Given the description of an element on the screen output the (x, y) to click on. 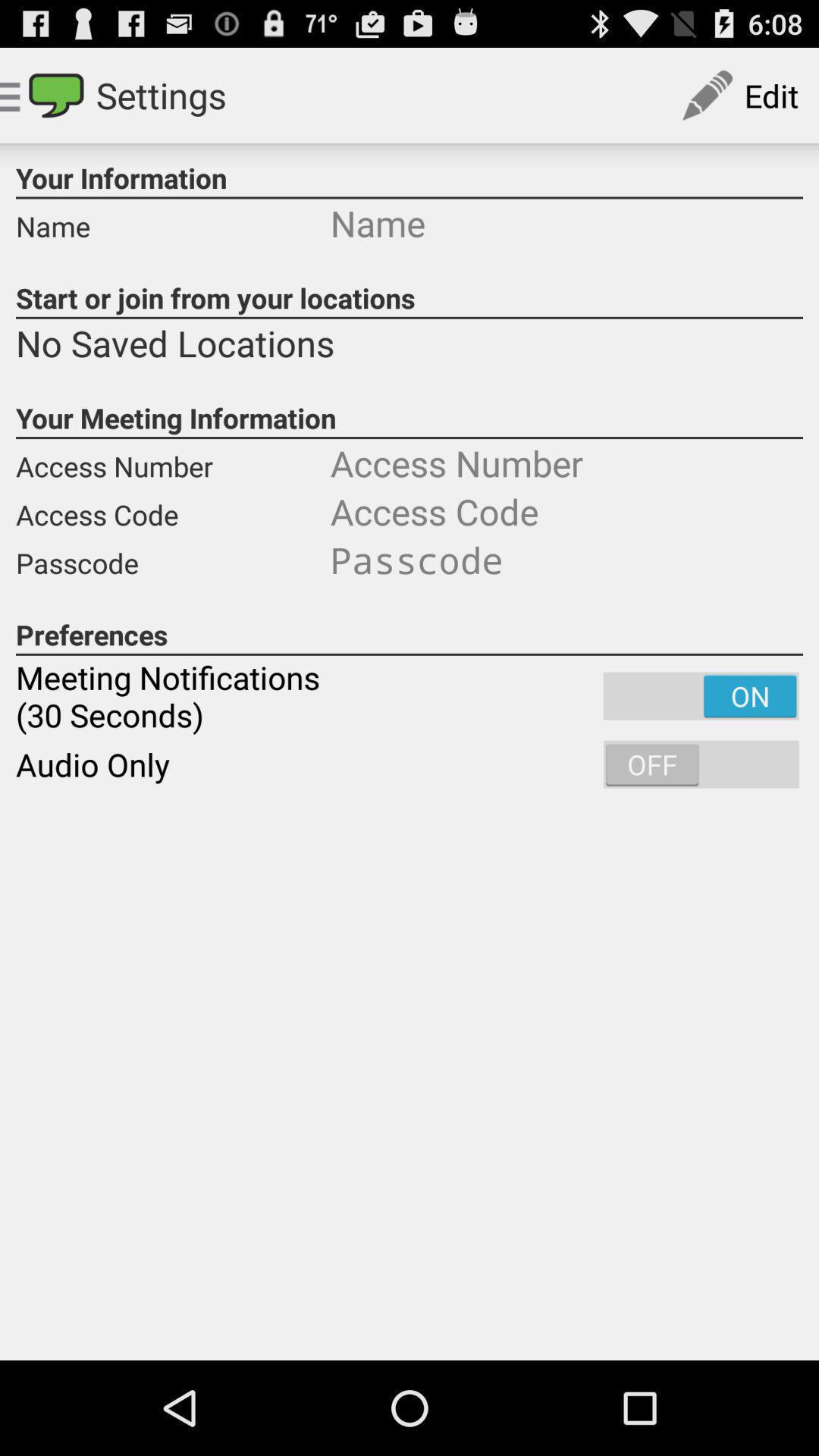
enter passcode (566, 559)
